Given the description of an element on the screen output the (x, y) to click on. 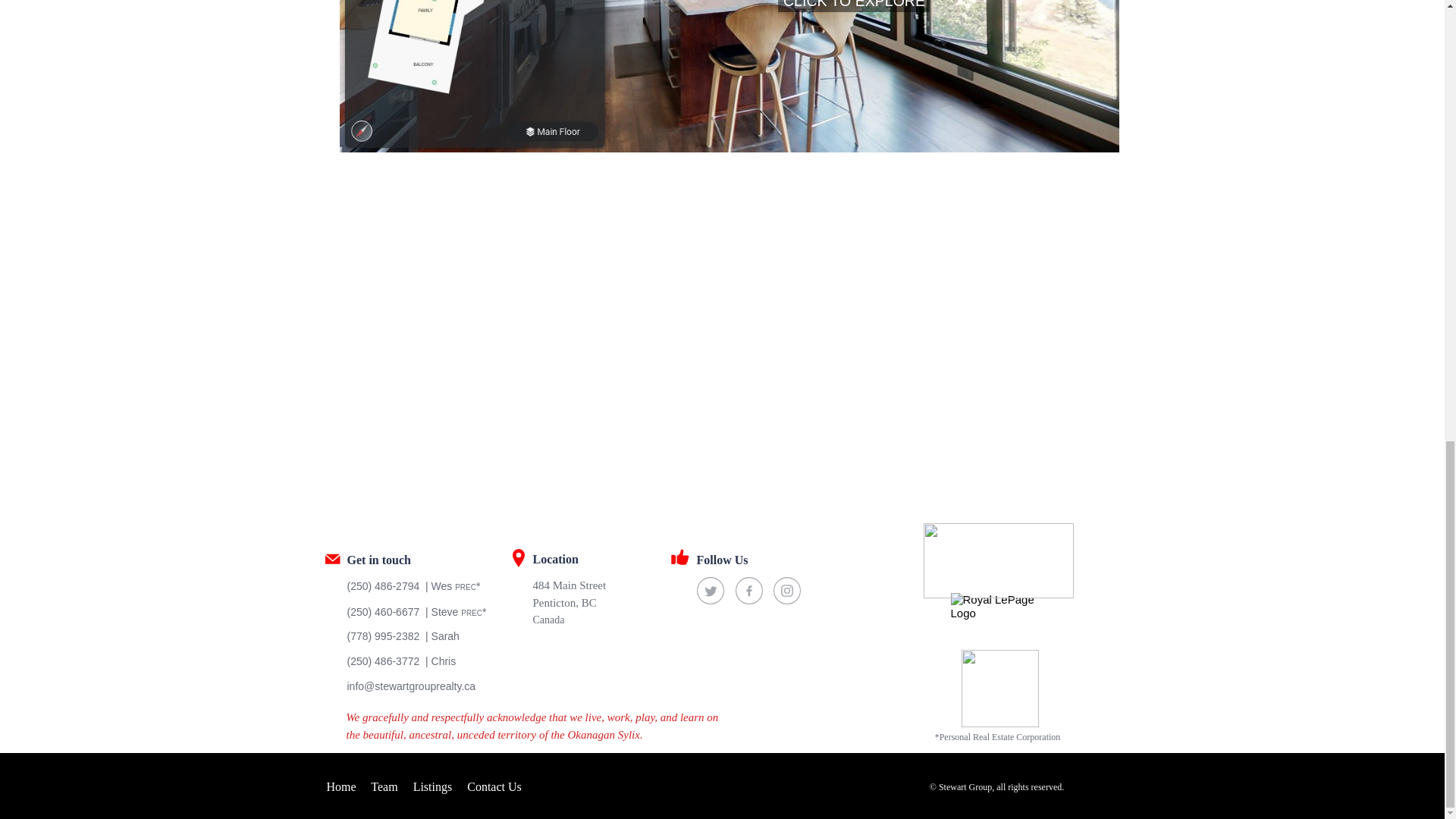
facebook-color-circle-outline (748, 590)
facebook-color-circle-outline (748, 590)
Listings (432, 786)
twitter-color-circle-outline (709, 590)
Team (384, 786)
Royal LePage Logo (998, 619)
Home (340, 786)
instagram-color-circle-outline (786, 590)
instagram-color-circle-outline (786, 590)
twitter-color-circle-outline (709, 590)
Contact Us (494, 786)
Get in touch (411, 558)
Location (596, 557)
